Given the description of an element on the screen output the (x, y) to click on. 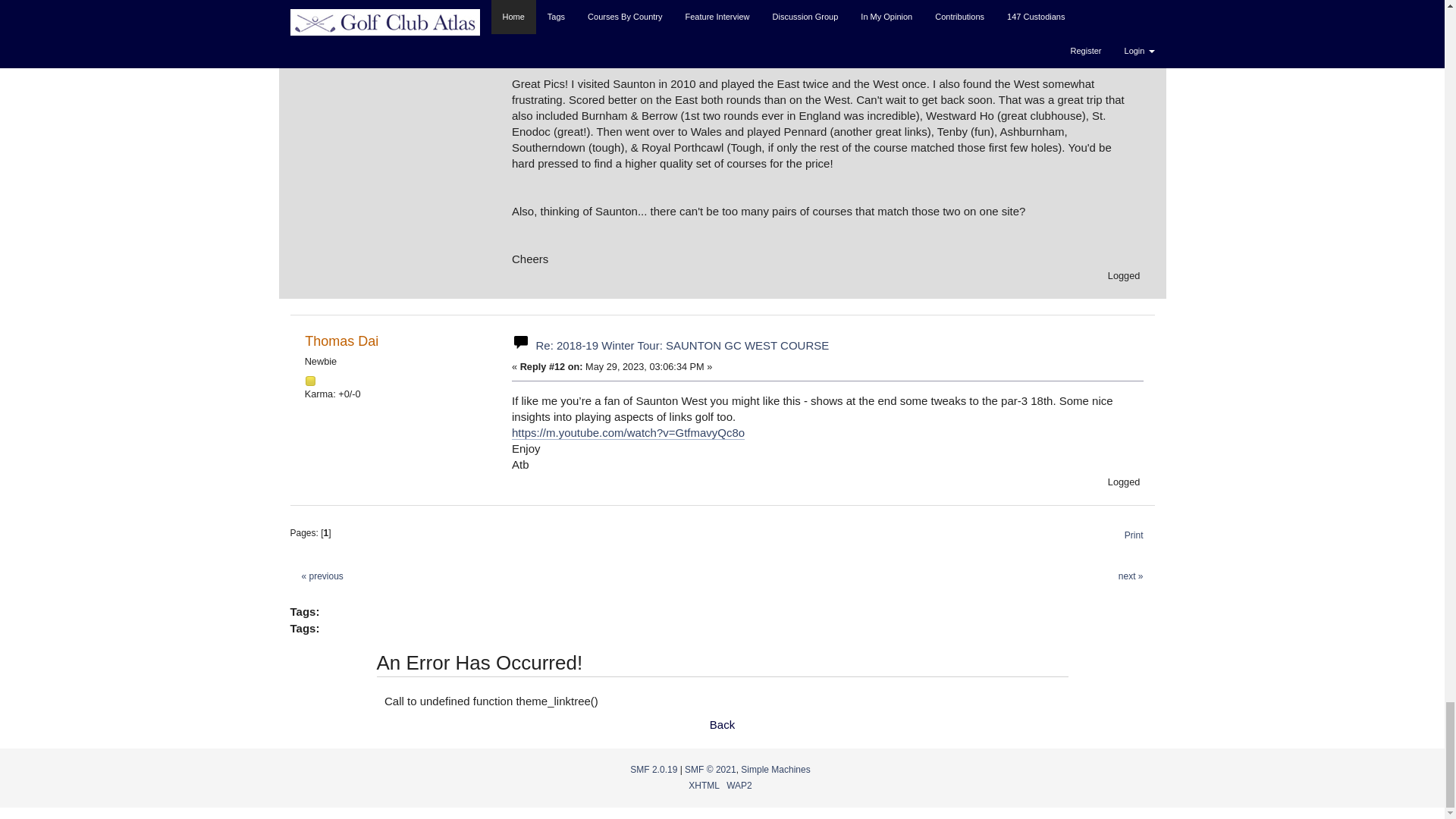
Simple Machines (775, 769)
Valid XHTML 1.0! (703, 785)
License (710, 769)
Simple Machines Forum (653, 769)
